Given the description of an element on the screen output the (x, y) to click on. 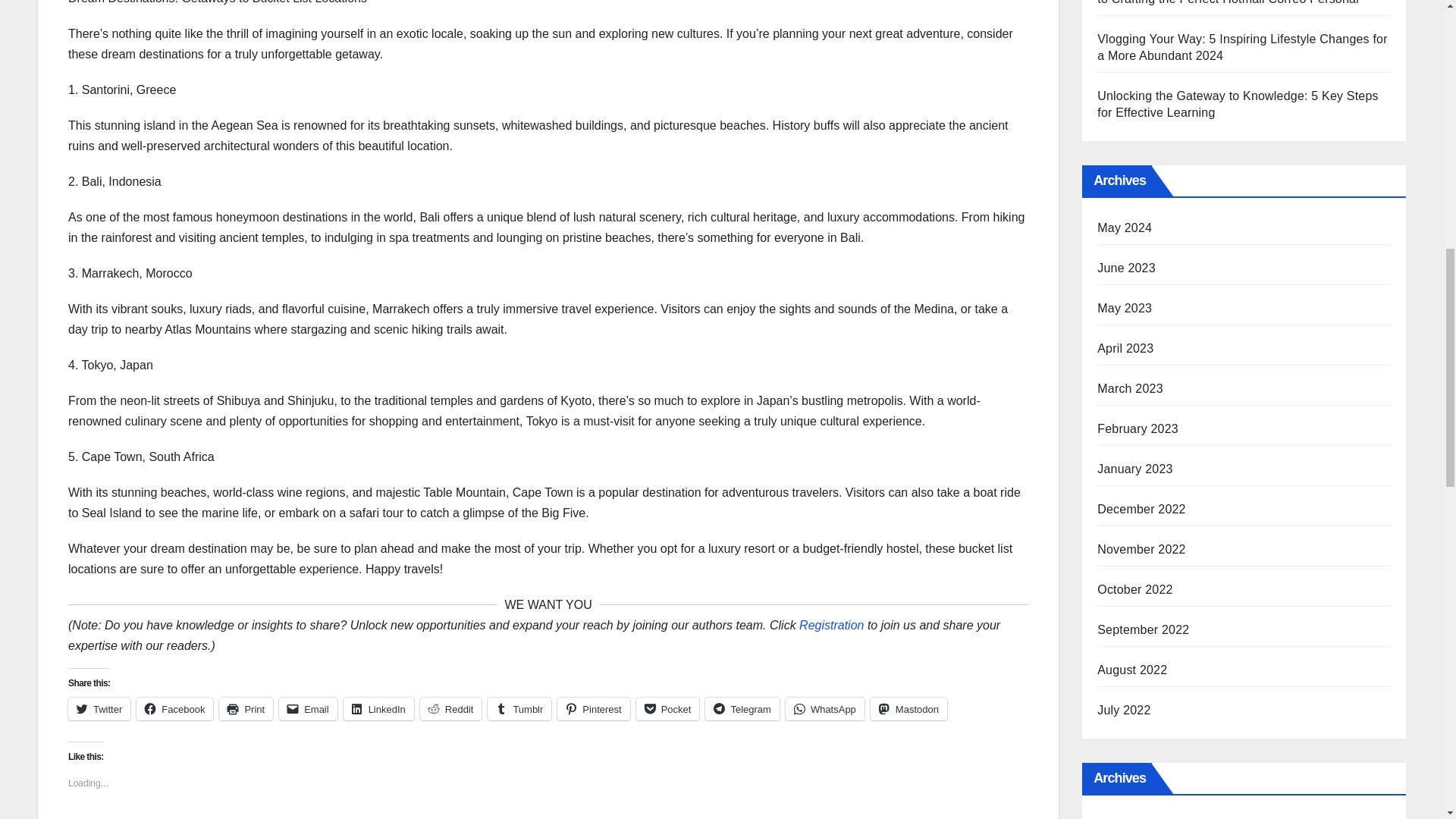
Click to print (246, 708)
Click to share on Twitter (99, 708)
Click to share on Reddit (450, 708)
Click to share on LinkedIn (378, 708)
LinkedIn (378, 708)
Reddit (450, 708)
Pinterest (592, 708)
Twitter (99, 708)
Email (308, 708)
Pocket (668, 708)
Facebook (174, 708)
Tumblr (519, 708)
Click to email a link to a friend (308, 708)
Click to share on Facebook (174, 708)
Registration (831, 625)
